Given the description of an element on the screen output the (x, y) to click on. 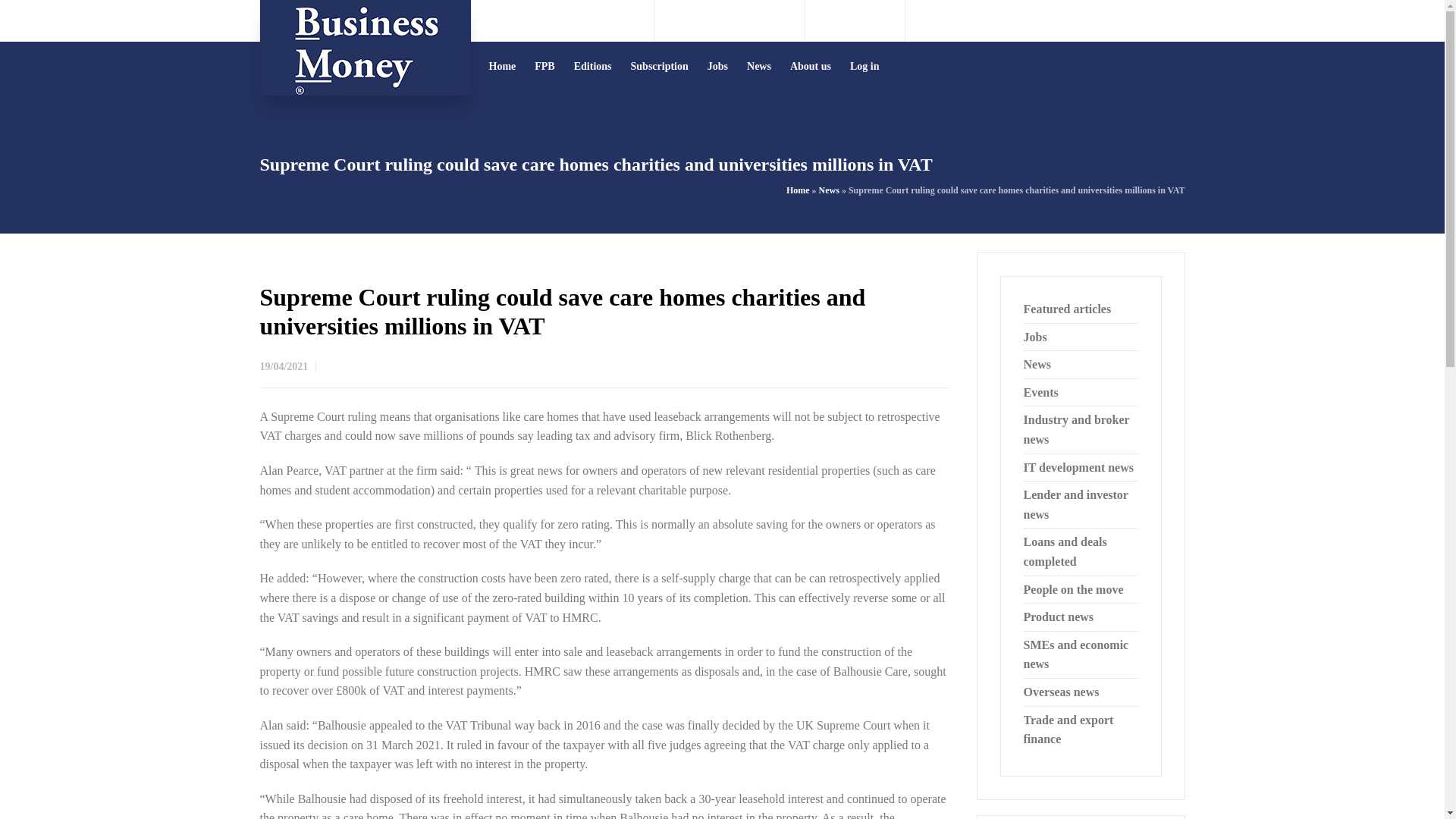
Linkedin (876, 20)
click to call (742, 19)
Subscription (659, 65)
Facebook (855, 20)
Home (502, 65)
News (829, 190)
Editions (592, 65)
My account (1158, 20)
Business Money (364, 47)
About us (810, 65)
